Given the description of an element on the screen output the (x, y) to click on. 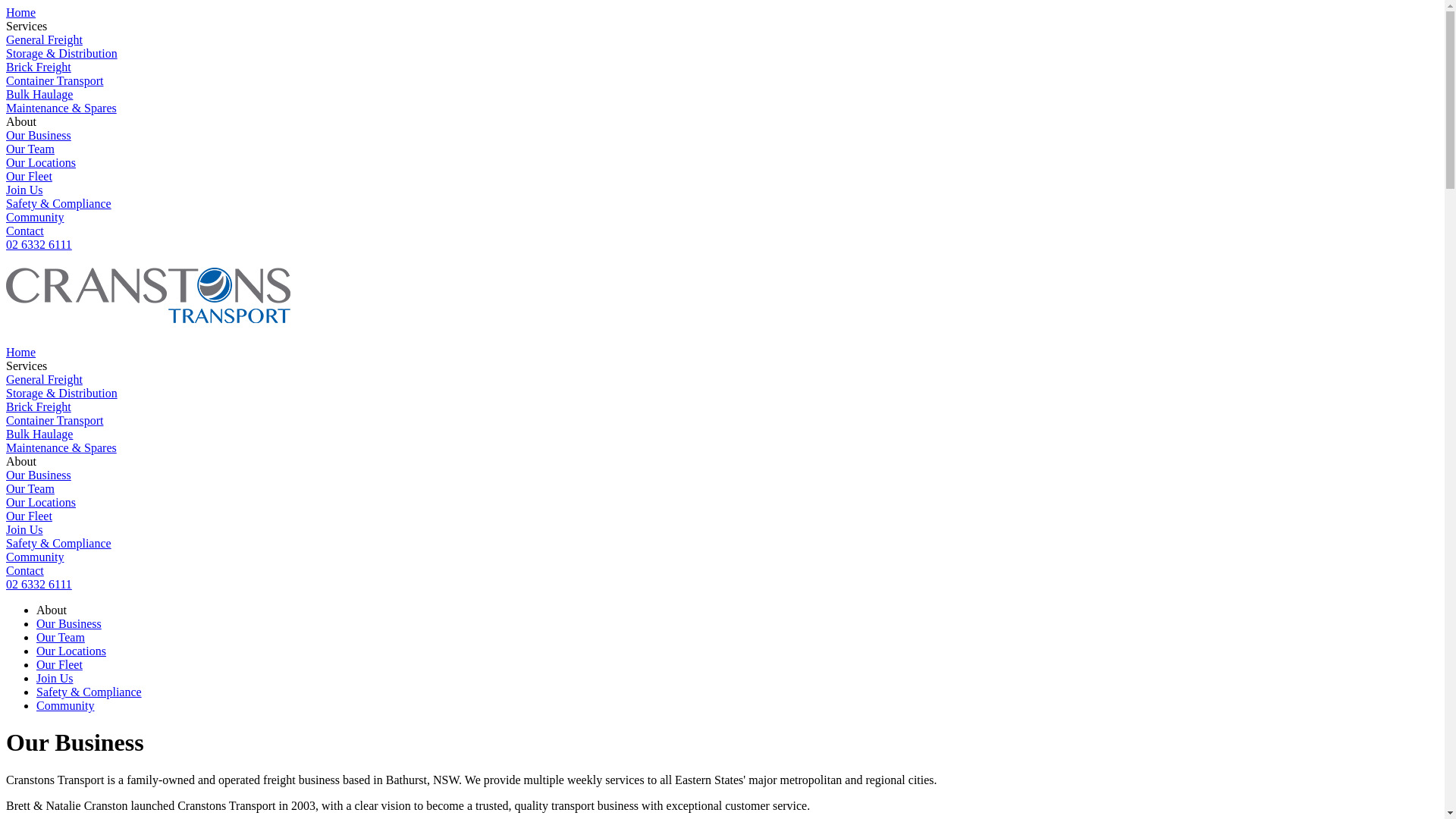
Our Locations Element type: text (40, 501)
Our Fleet Element type: text (29, 175)
Our Team Element type: text (60, 636)
Bulk Haulage Element type: text (39, 93)
Bulk Haulage Element type: text (39, 433)
02 6332 6111 Element type: text (39, 583)
General Freight Element type: text (44, 39)
Container Transport Element type: text (54, 420)
Contact Element type: text (24, 570)
Brick Freight Element type: text (38, 66)
02 6332 6111 Element type: text (39, 244)
Container Transport Element type: text (54, 80)
Home Element type: text (20, 351)
Our Business Element type: text (38, 134)
Our Locations Element type: text (40, 162)
Storage & Distribution Element type: text (61, 392)
Our Team Element type: text (30, 488)
Our Business Element type: text (68, 623)
Our Fleet Element type: text (59, 664)
Join Us Element type: text (24, 189)
Join Us Element type: text (54, 677)
Maintenance & Spares Element type: text (61, 447)
Join Us Element type: text (24, 529)
General Freight Element type: text (44, 379)
Community Element type: text (34, 216)
Community Element type: text (65, 705)
Contact Element type: text (24, 230)
Brick Freight Element type: text (38, 406)
Community Element type: text (34, 556)
Safety & Compliance Element type: text (58, 542)
Our Team Element type: text (30, 148)
Safety & Compliance Element type: text (88, 691)
Home Element type: text (20, 12)
Storage & Distribution Element type: text (61, 53)
Maintenance & Spares Element type: text (61, 107)
Our Locations Element type: text (71, 650)
Our Fleet Element type: text (29, 515)
Safety & Compliance Element type: text (58, 203)
Our Business Element type: text (38, 474)
